Given the description of an element on the screen output the (x, y) to click on. 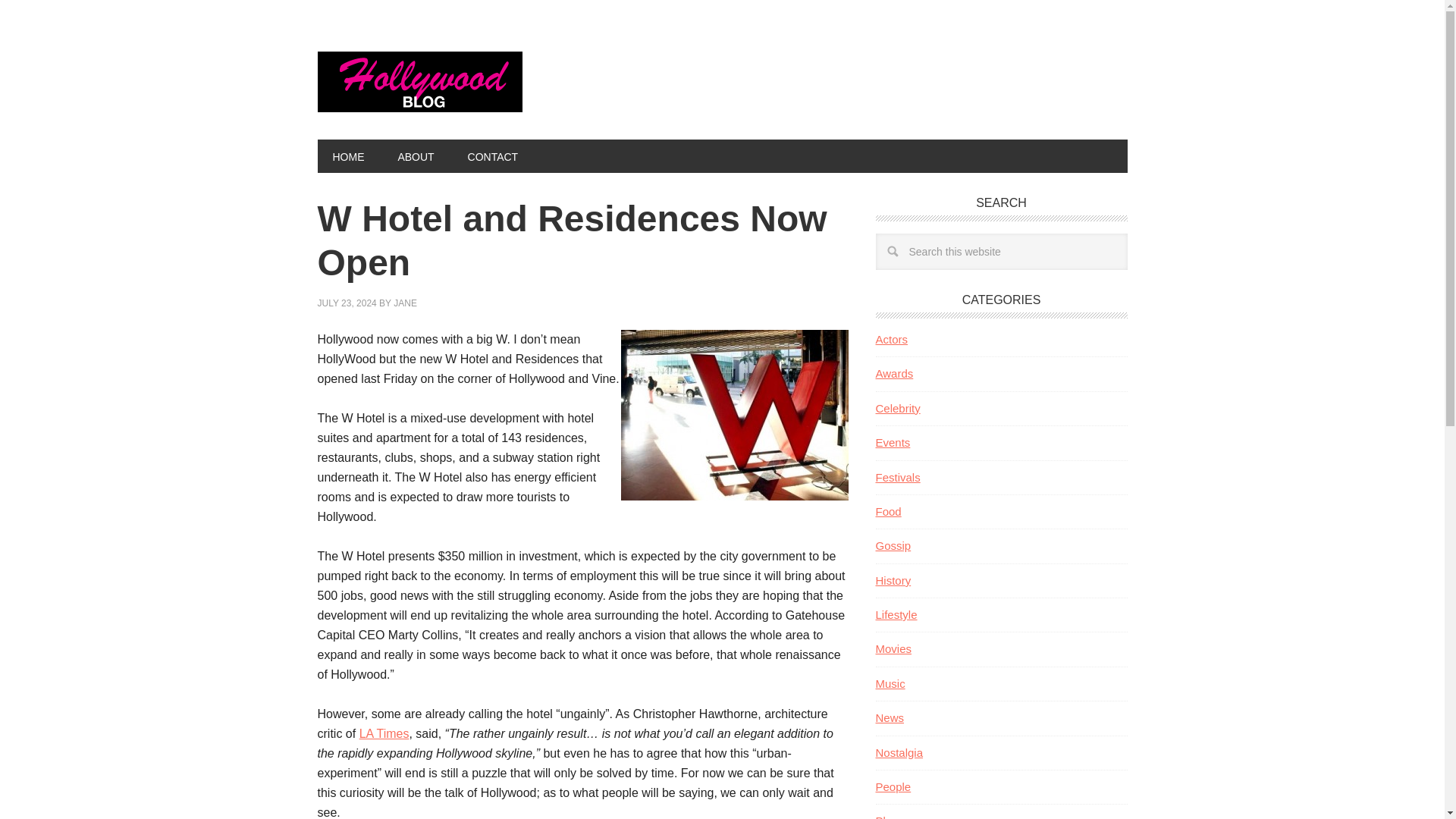
Awards (893, 373)
JANE (404, 303)
Gossip (893, 545)
Movies (893, 648)
Festivals (897, 476)
History (893, 580)
ABOUT (414, 155)
News (889, 717)
Food (888, 511)
HOLLYWOOD BLOG (419, 81)
LA Times (384, 733)
Music (889, 683)
CONTACT (493, 155)
